Given the description of an element on the screen output the (x, y) to click on. 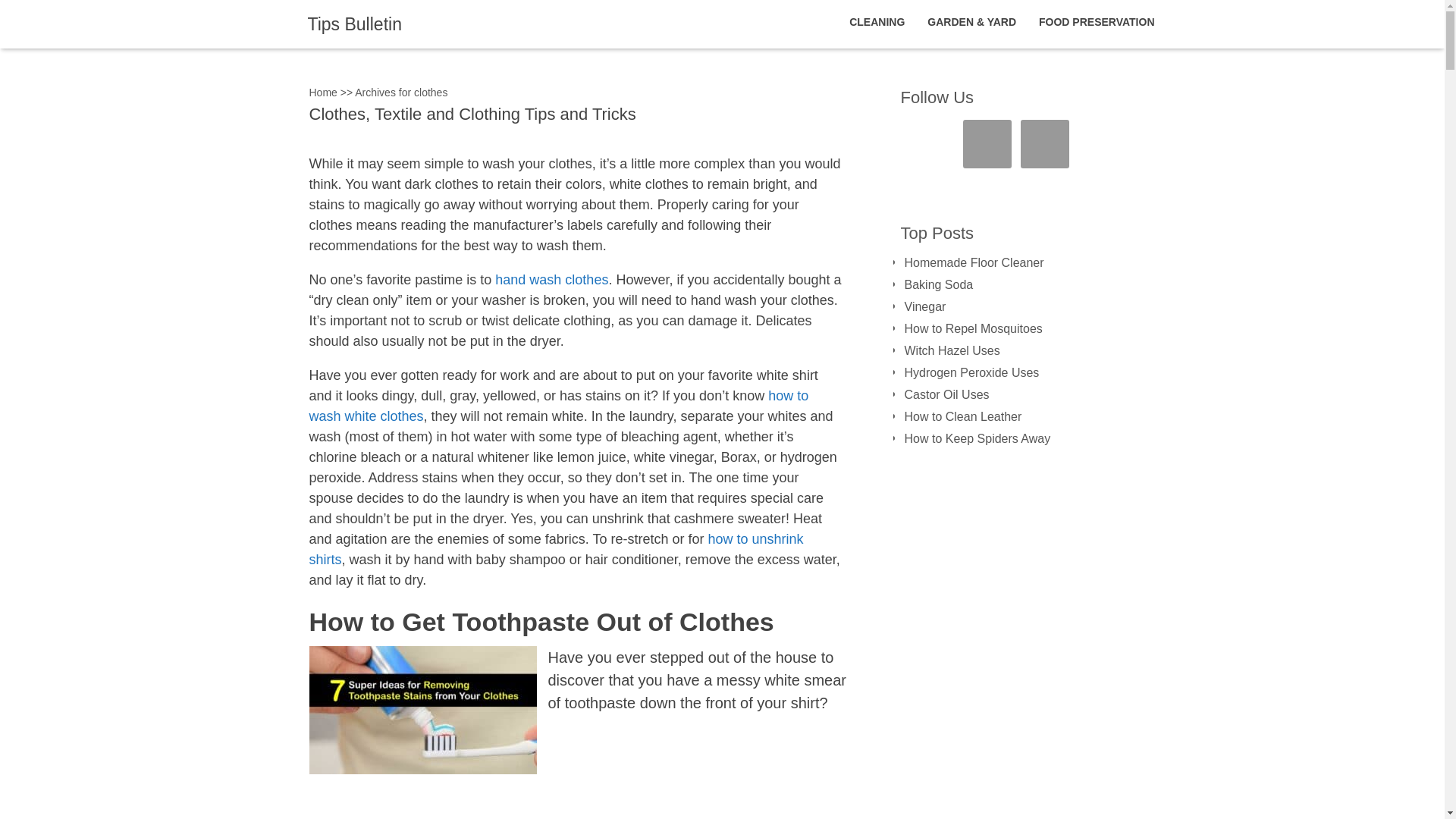
Home (322, 92)
how to wash white clothes (558, 406)
FOOD PRESERVATION (1096, 22)
how to unshrink shirts (555, 549)
Tips Bulletin (354, 24)
How to Get Dog Fur Out of Clothes (522, 816)
How to Get Toothpaste Out of Clothes (541, 621)
hand wash clothes (551, 279)
CLEANING (876, 22)
